Given the description of an element on the screen output the (x, y) to click on. 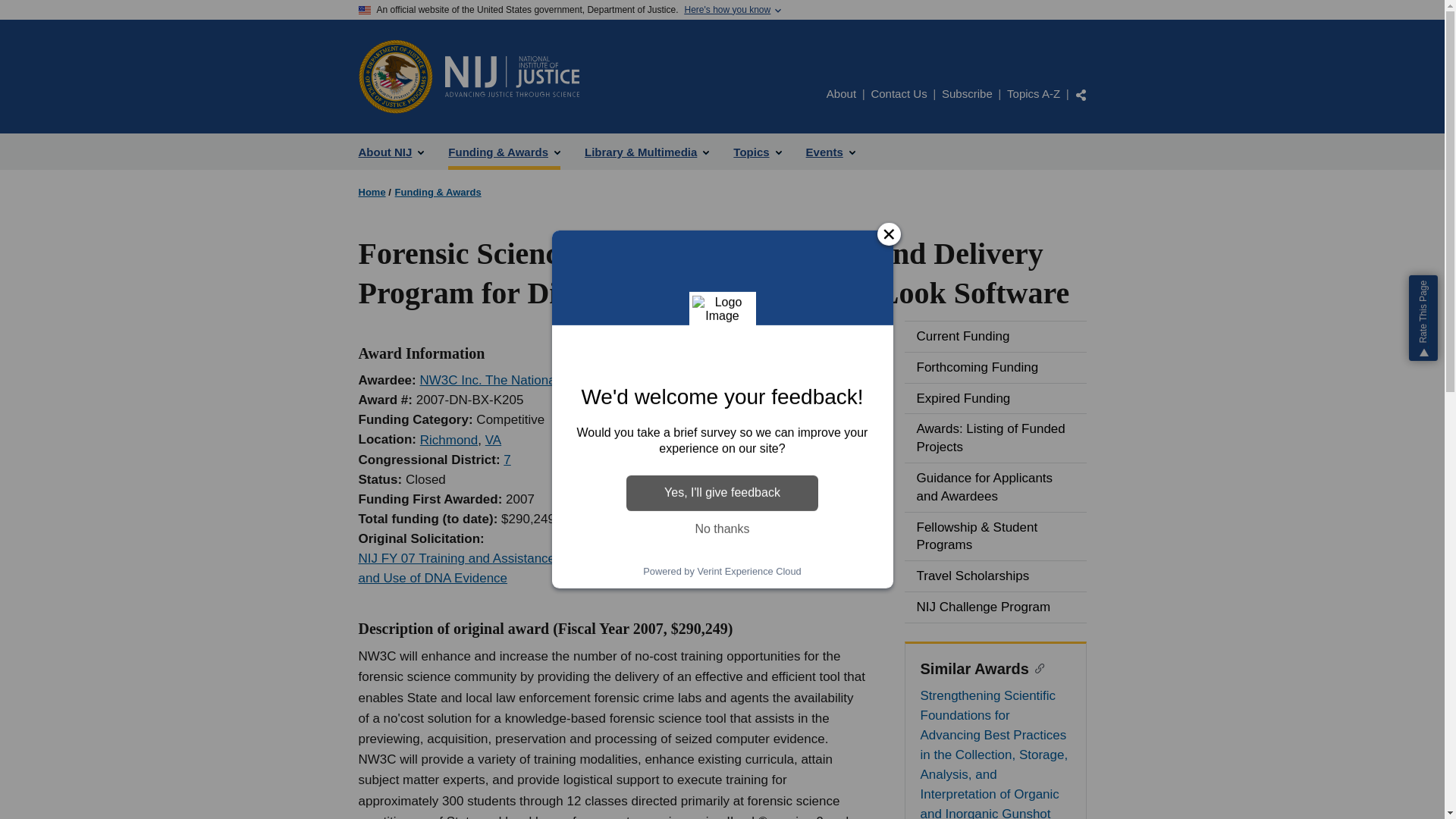
About (841, 93)
NIJ Challenge Program (995, 607)
Travel Scholarships (995, 576)
Subscribe (967, 93)
VA (492, 440)
Topics (756, 151)
Guidance for Applicants and Awardees (995, 487)
Choose a social sharing platform (1080, 94)
Copy link to section: Similar Awards (1037, 667)
Home (371, 192)
Awards: Listing of Funded Projects (995, 438)
Logo Image (722, 308)
Events (830, 151)
